Given the description of an element on the screen output the (x, y) to click on. 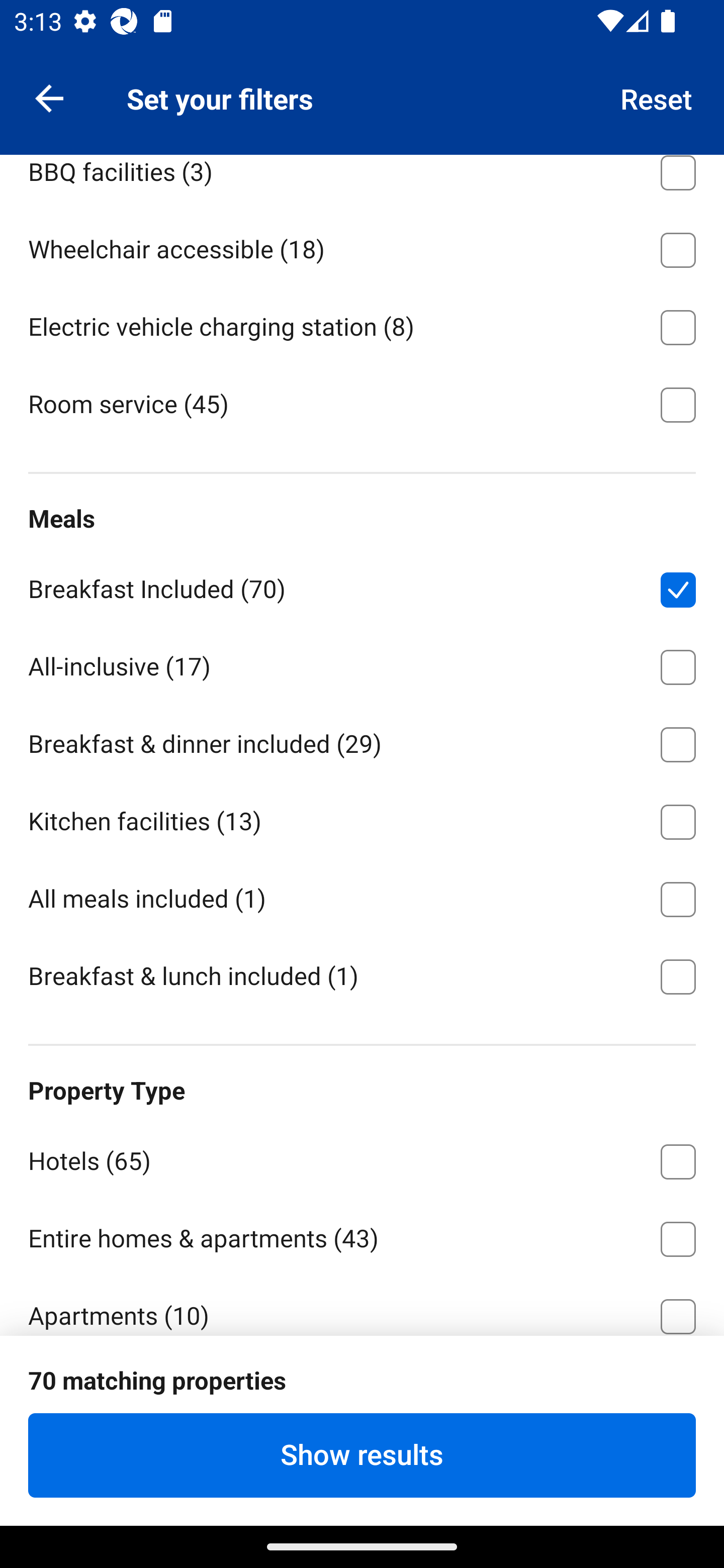
Navigate up (49, 97)
Family rooms ⁦(36) (361, 91)
Reset (656, 97)
BBQ facilities ⁦(3) (361, 181)
Wheelchair accessible ⁦(18) (361, 246)
Electric vehicle charging station ⁦(8) (361, 323)
Room service ⁦(45) (361, 402)
Breakfast Included ⁦(70) (361, 586)
All-inclusive ⁦(17) (361, 663)
Breakfast & dinner included ⁦(29) (361, 740)
Kitchen facilities ⁦(13) (361, 818)
All meals included ⁦(1) (361, 895)
Breakfast & lunch included ⁦(1) (361, 975)
Hotels ⁦(65) (361, 1157)
Entire homes & apartments ⁦(43) (361, 1235)
Apartments ⁦(10) (361, 1304)
Farm Stays ⁦(1) (361, 1392)
Show results (361, 1454)
